Given the description of an element on the screen output the (x, y) to click on. 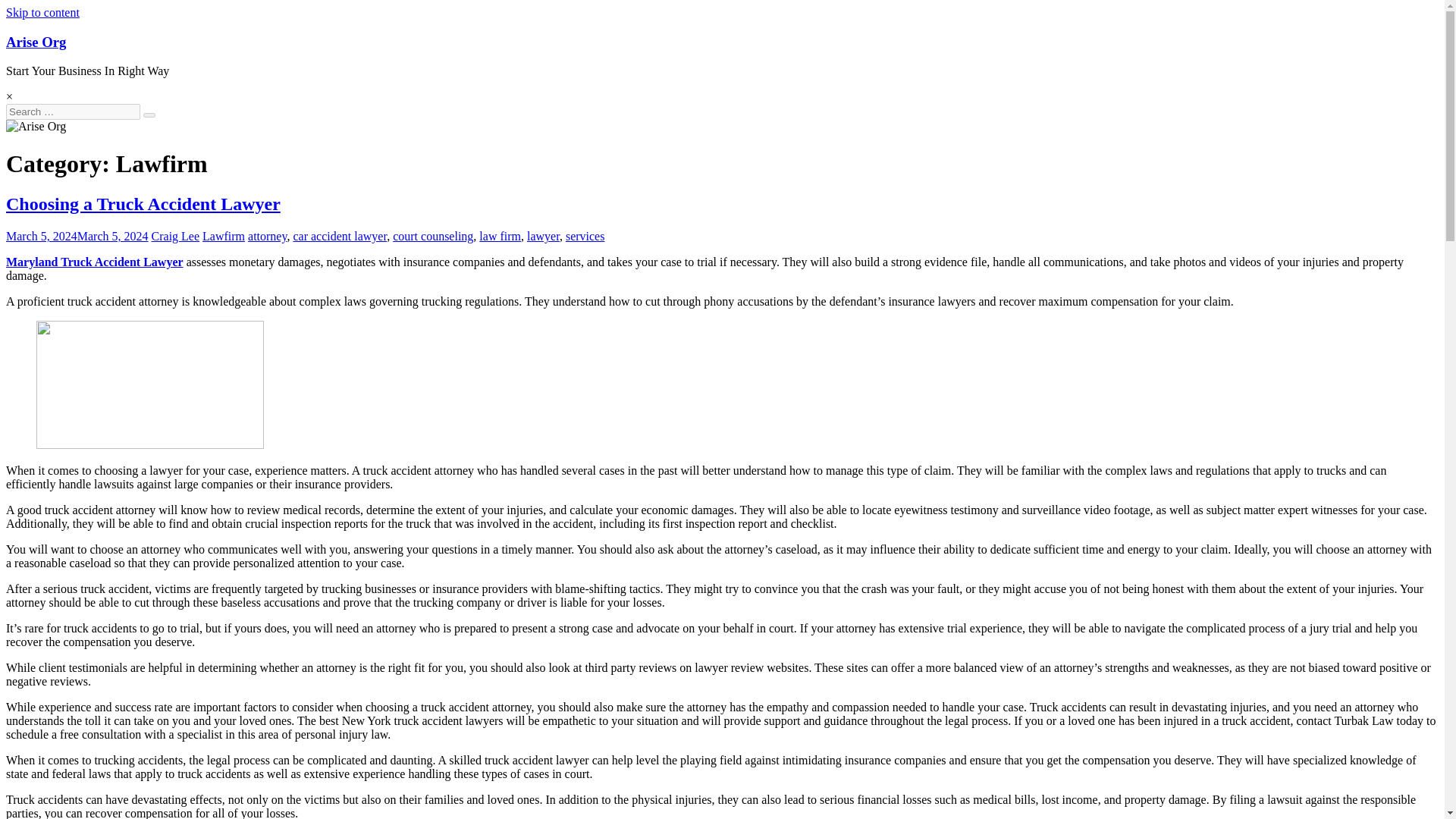
lawyer (543, 236)
court counseling (433, 236)
services (585, 236)
Arise Org (35, 41)
car accident lawyer (339, 236)
Arise Org (35, 41)
Craig Lee (175, 236)
law firm (500, 236)
Skip to content (42, 11)
Choosing a Truck Accident Lawyer (143, 203)
Choosing a Truck Accident Lawyer (143, 203)
Maryland Truck Accident Lawyer (94, 261)
attorney (266, 236)
Craig Lee (175, 236)
10:02 am (76, 236)
